Given the description of an element on the screen output the (x, y) to click on. 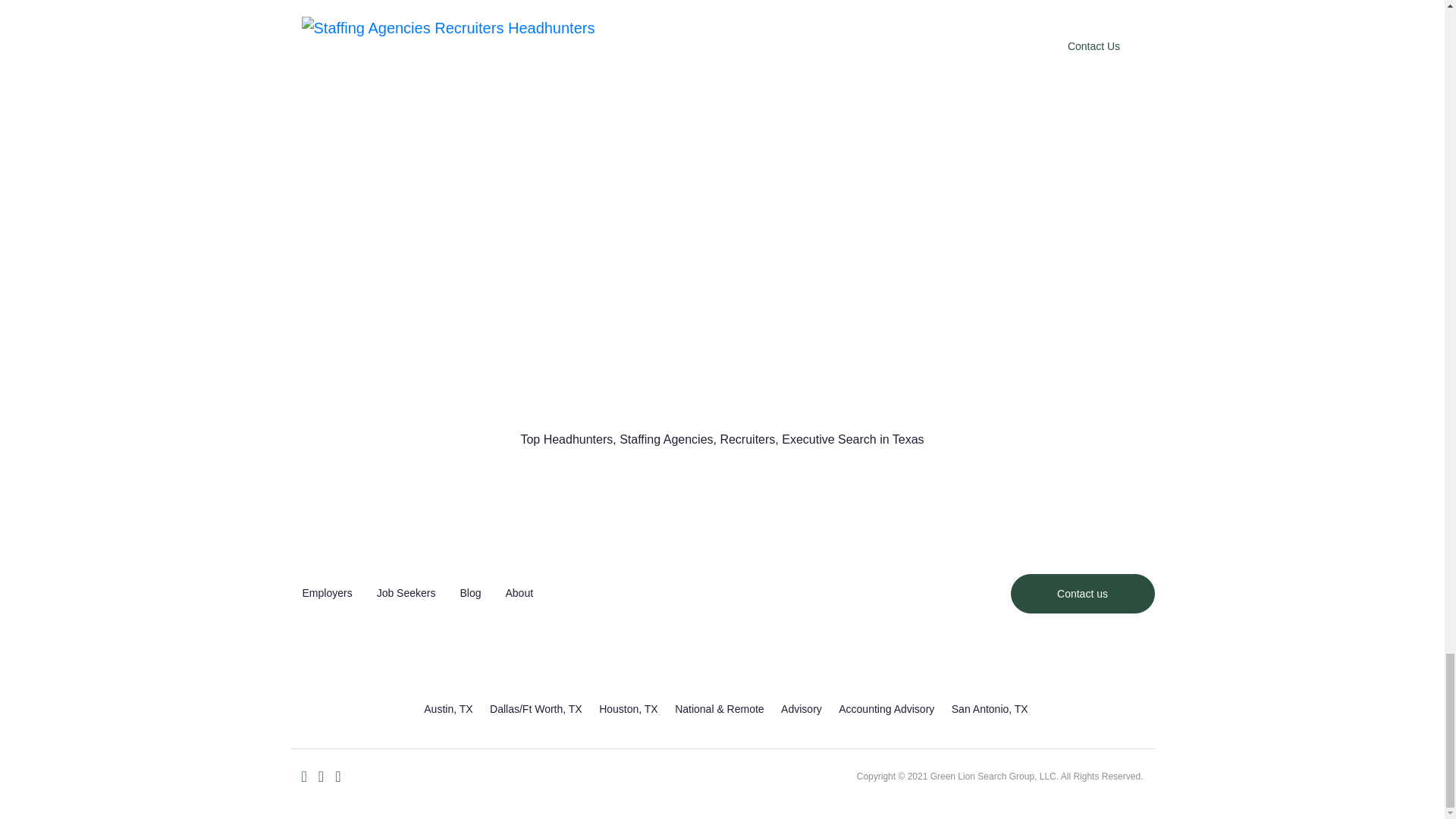
Accounting Advisory (886, 708)
San Antonio, TX (989, 708)
About (518, 593)
Contact us (1082, 593)
Houston, TX (628, 708)
Blog (469, 593)
Austin, TX (447, 708)
Employers (326, 593)
Advisory (801, 708)
Job Seekers (406, 593)
